Given the description of an element on the screen output the (x, y) to click on. 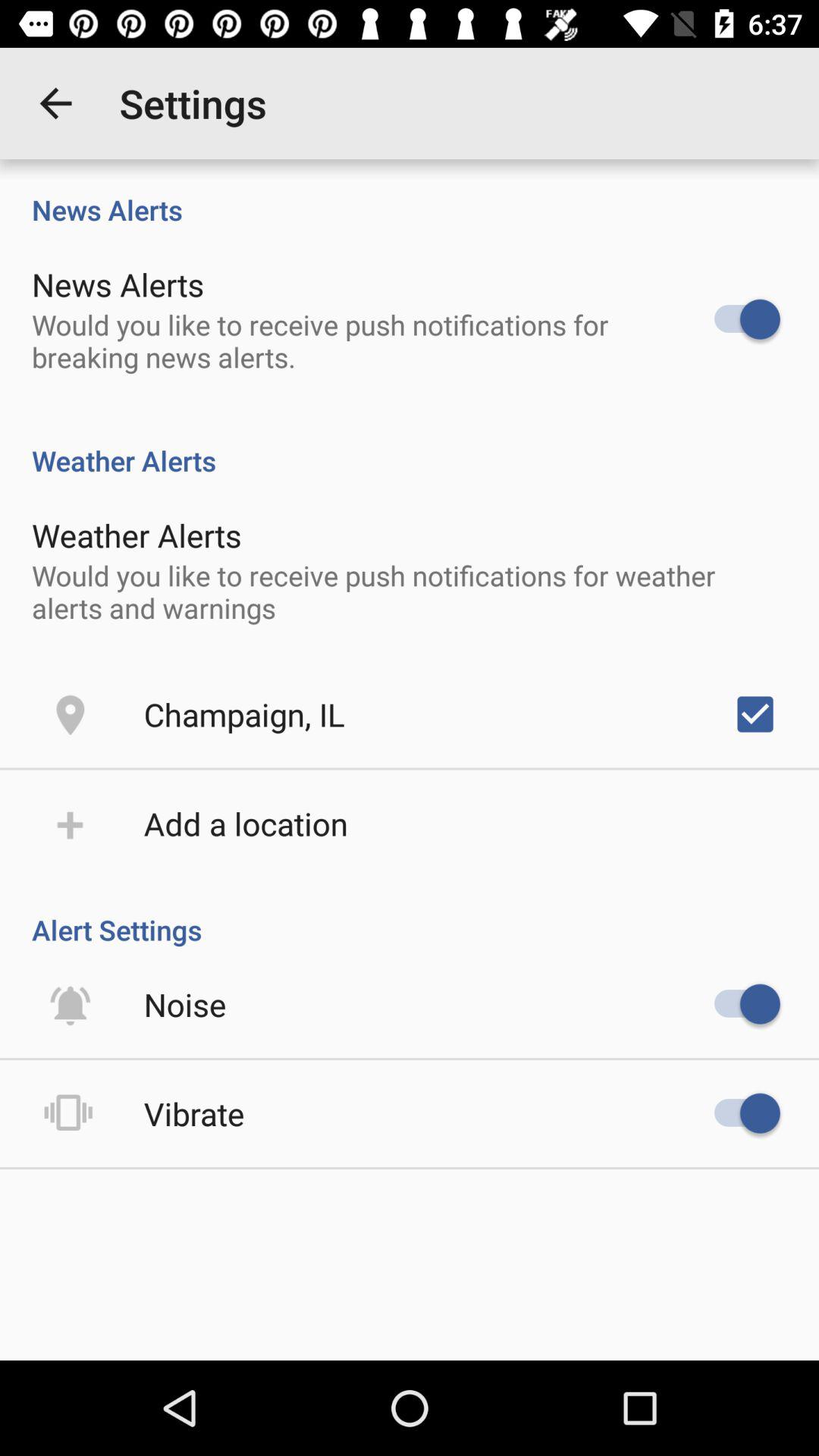
turn off item to the left of settings  item (55, 103)
